Given the description of an element on the screen output the (x, y) to click on. 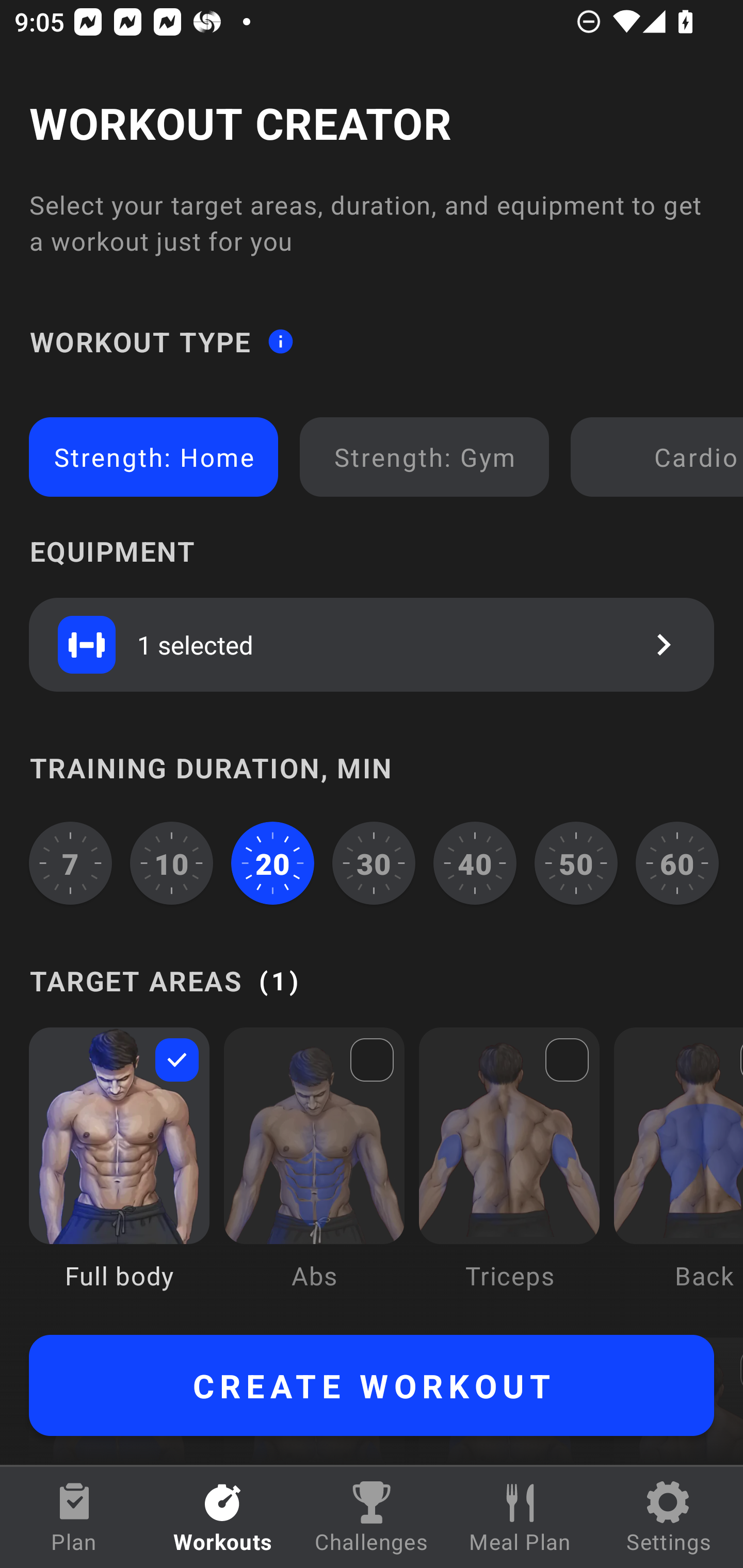
Workout type information button (280, 340)
Strength: Gym (423, 457)
Cardio (660, 457)
1 selected (371, 644)
7 (70, 862)
10 (171, 862)
20 (272, 862)
30 (373, 862)
40 (474, 862)
50 (575, 862)
60 (676, 862)
Abs (313, 1172)
Triceps (509, 1172)
Back (678, 1172)
CREATE WORKOUT (371, 1385)
 Plan  (74, 1517)
 Challenges  (371, 1517)
 Meal Plan  (519, 1517)
 Settings  (668, 1517)
